Given the description of an element on the screen output the (x, y) to click on. 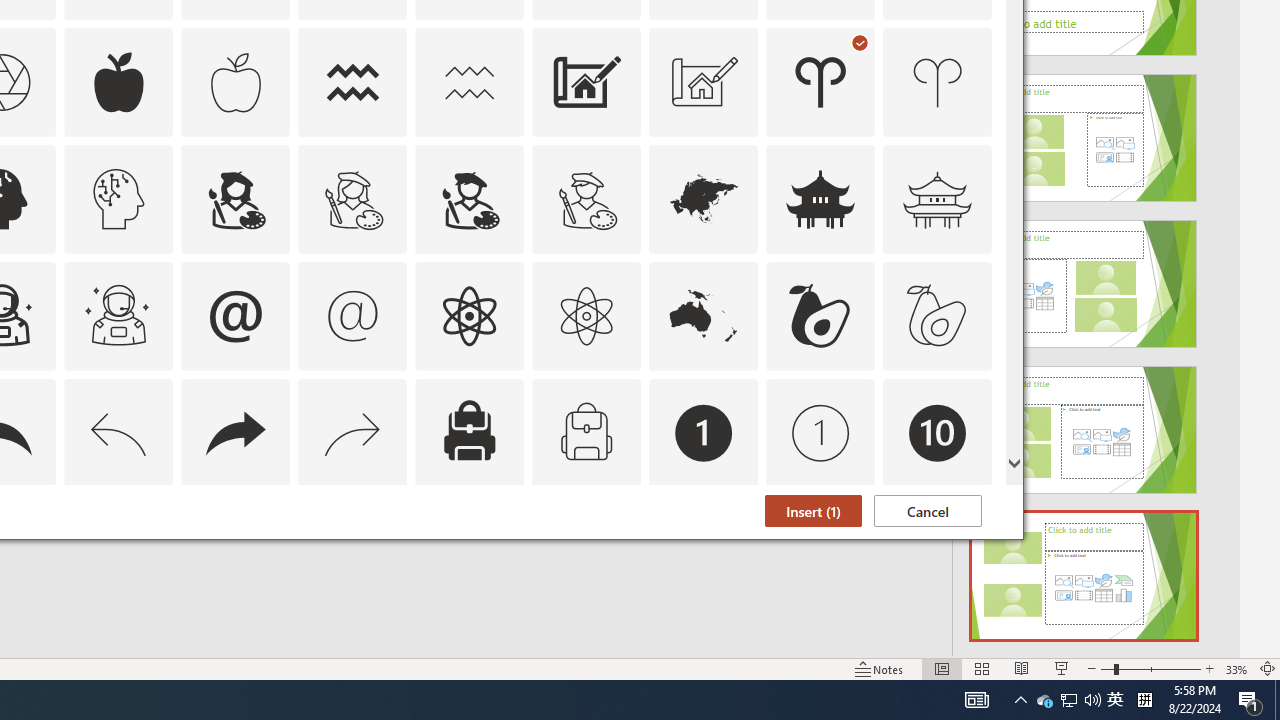
AutomationID: Icons_Badge6_M (235, 550)
AutomationID: Icons_Aries (820, 82)
AutomationID: Icons_ArtificialIntelligence_M (118, 198)
AutomationID: Icons_Atom (469, 316)
AutomationID: Icons_Apple (118, 82)
AutomationID: Icons_Aries_M (938, 82)
